Given the description of an element on the screen output the (x, y) to click on. 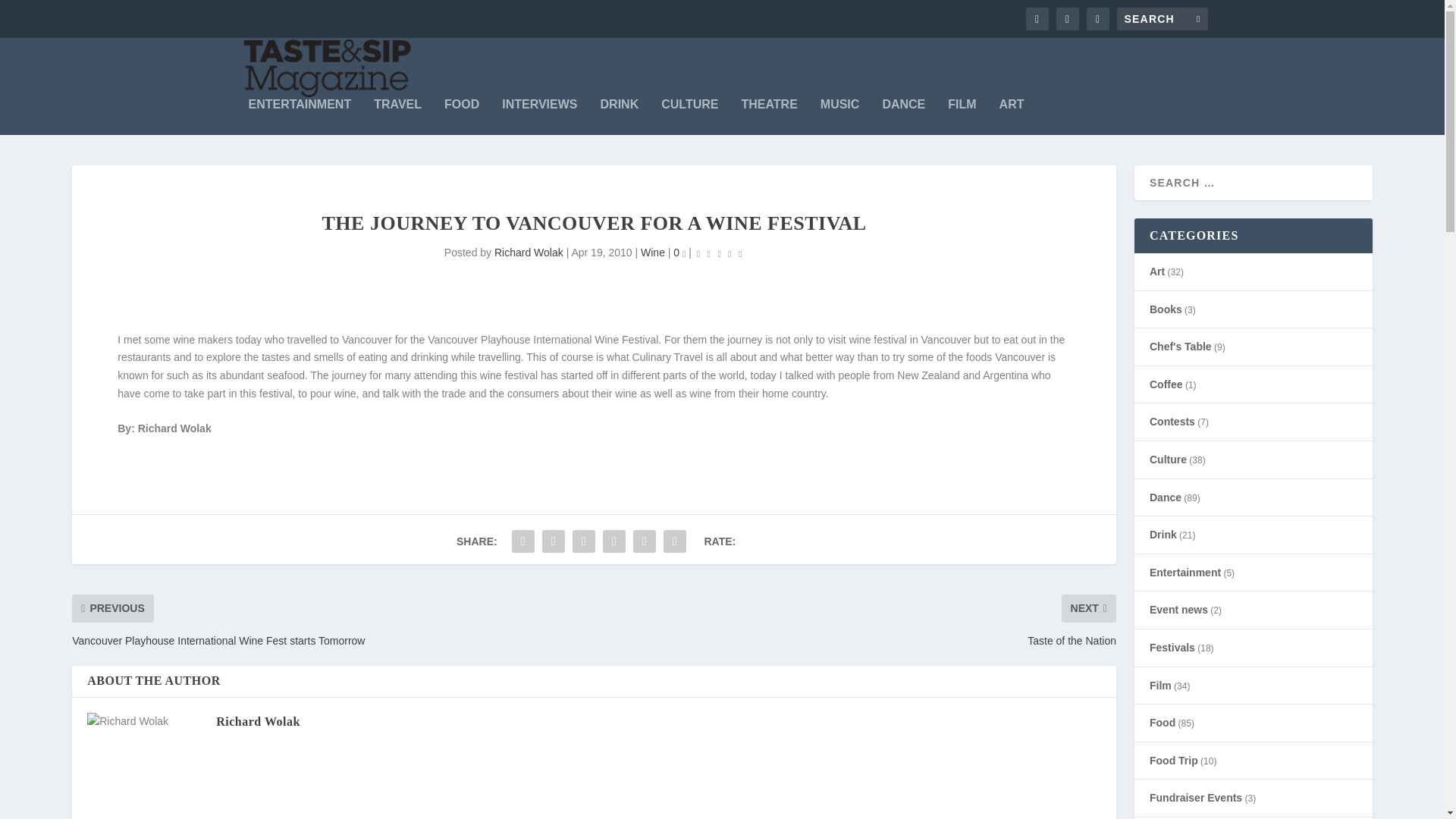
ENTERTAINMENT (300, 116)
Chef's Table (1180, 346)
Rating: 0.00 (719, 253)
THEATRE (768, 116)
DANCE (903, 116)
Posts by Richard Wolak (529, 252)
CULTURE (689, 116)
FOOD (461, 116)
TRAVEL (398, 116)
